Given the description of an element on the screen output the (x, y) to click on. 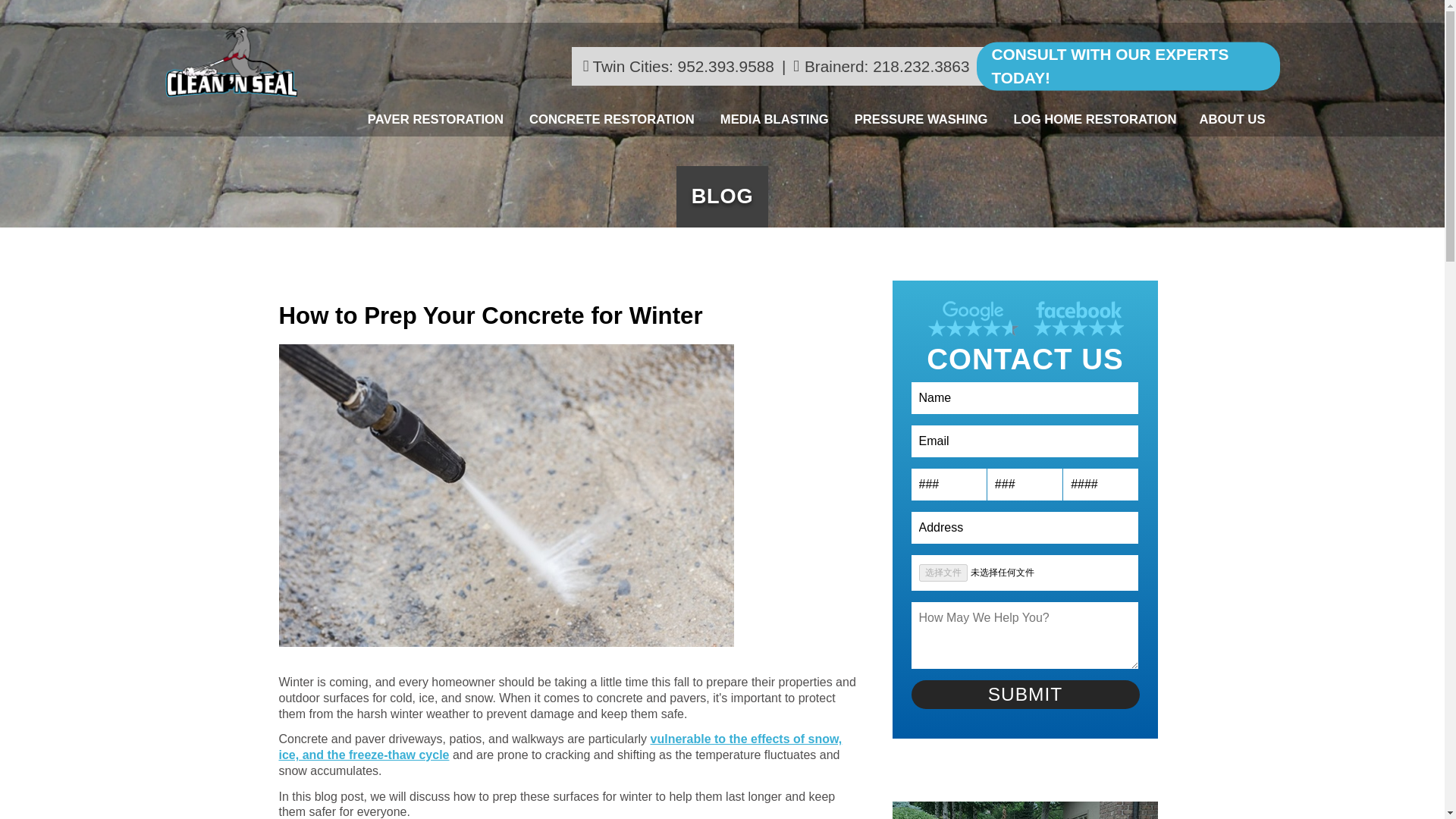
Clean 'N Seal (231, 61)
Call Now (686, 65)
Brainerd: 218.232.3863 (894, 65)
Twin Cities: 952.393.9588 (686, 65)
Consult with Our Experts Today (1127, 66)
ABOUT US (1234, 119)
Media Blasting (776, 119)
Concrete Restoration (612, 119)
PAVER RESTORATION (436, 119)
CONSULT WITH OUR EXPERTS TODAY! (1127, 66)
Clean 'N Seal (231, 64)
Call Now (894, 65)
Paver Restoration (436, 119)
CONCRETE RESTORATION (612, 119)
MEDIA BLASTING (776, 119)
